Given the description of an element on the screen output the (x, y) to click on. 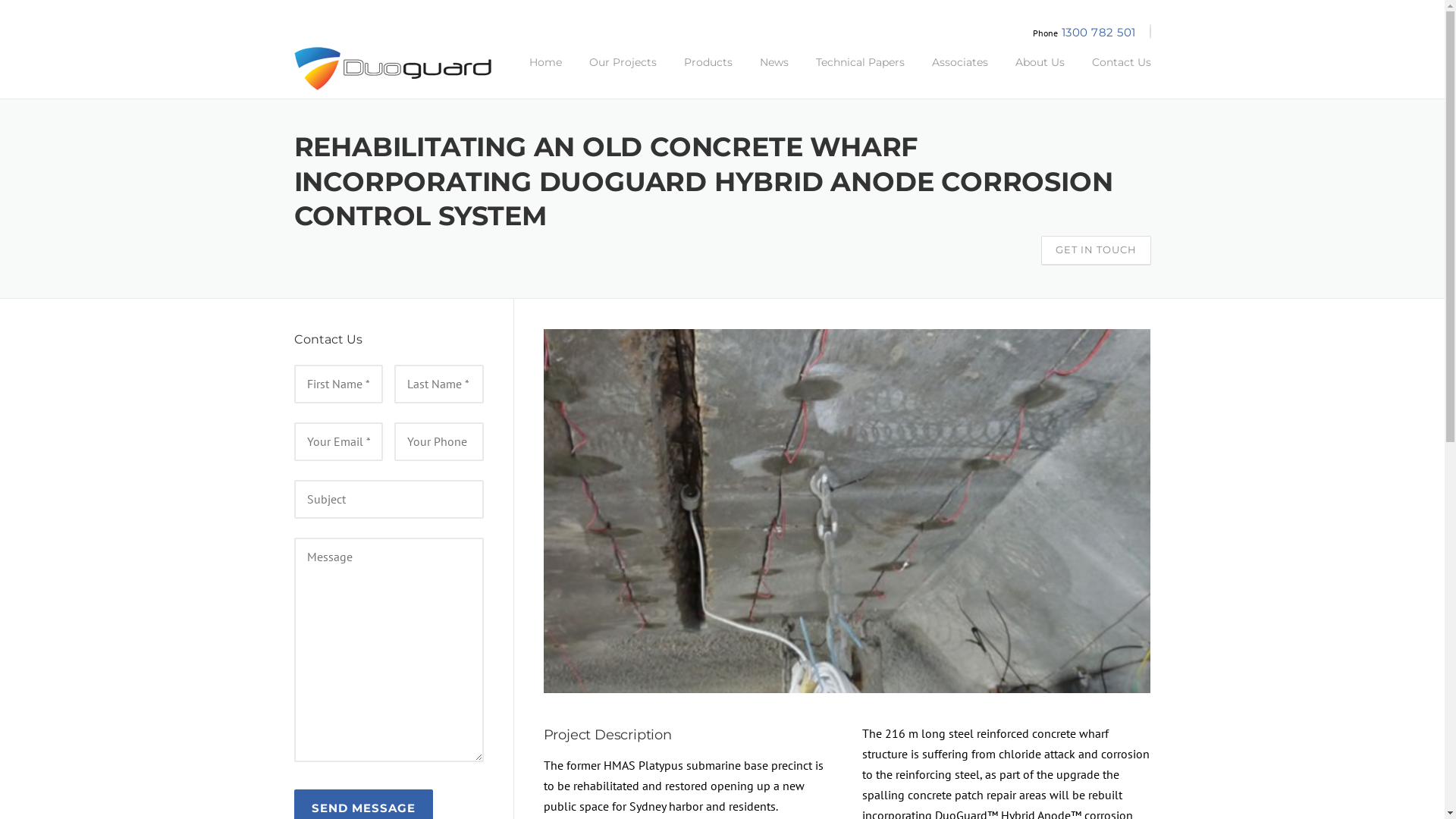
Linkedin Element type: hover (1150, 31)
Technical Papers Element type: text (860, 73)
GET IN TOUCH Element type: text (1095, 249)
Our Projects Element type: text (621, 73)
Products Element type: text (708, 73)
Home Element type: text (545, 73)
1300 782 501 Element type: text (1098, 32)
Duoguard Element type: hover (392, 66)
About Us Element type: text (1039, 73)
News Element type: text (774, 73)
Contact Us Element type: text (1114, 73)
2019-03-01_0838 Element type: hover (845, 511)
Associates Element type: text (959, 73)
